Given the description of an element on the screen output the (x, y) to click on. 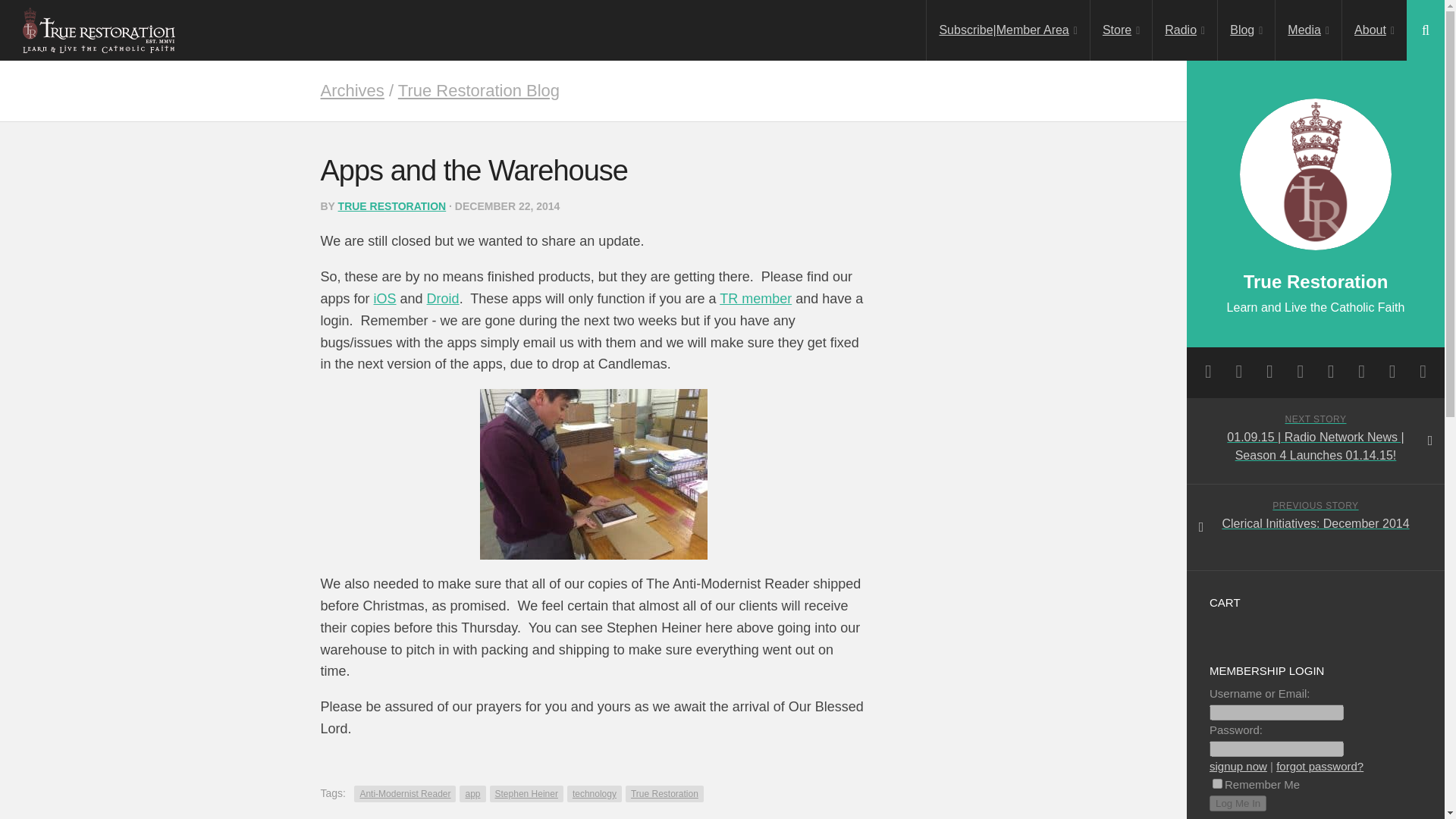
Radio (1185, 30)
Store (1120, 30)
Blog (1246, 30)
Log Me In (1237, 803)
forever (1217, 783)
Media (1307, 30)
Posts by True Restoration (391, 205)
